Given the description of an element on the screen output the (x, y) to click on. 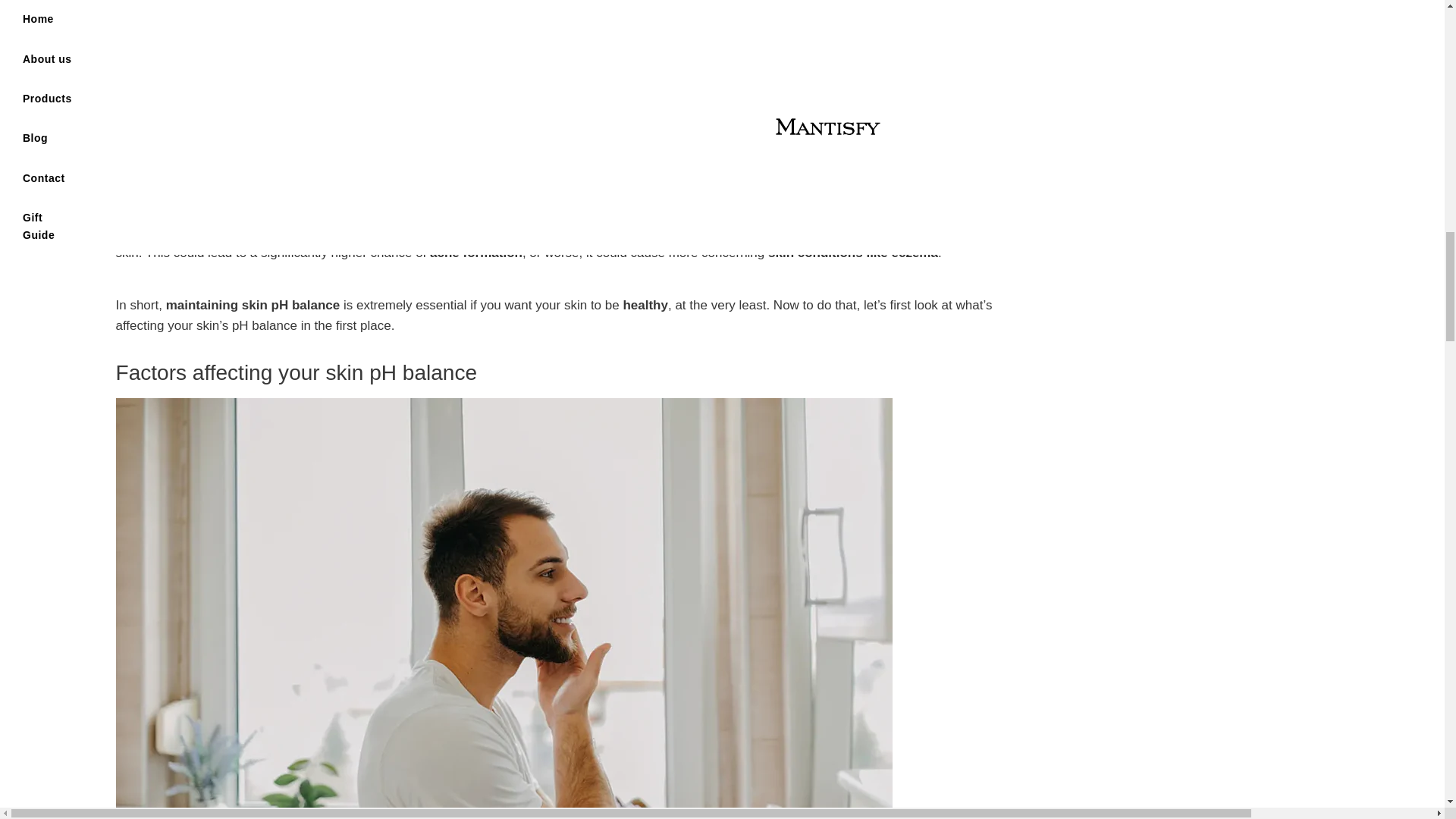
pH scale (834, 159)
